Given the description of an element on the screen output the (x, y) to click on. 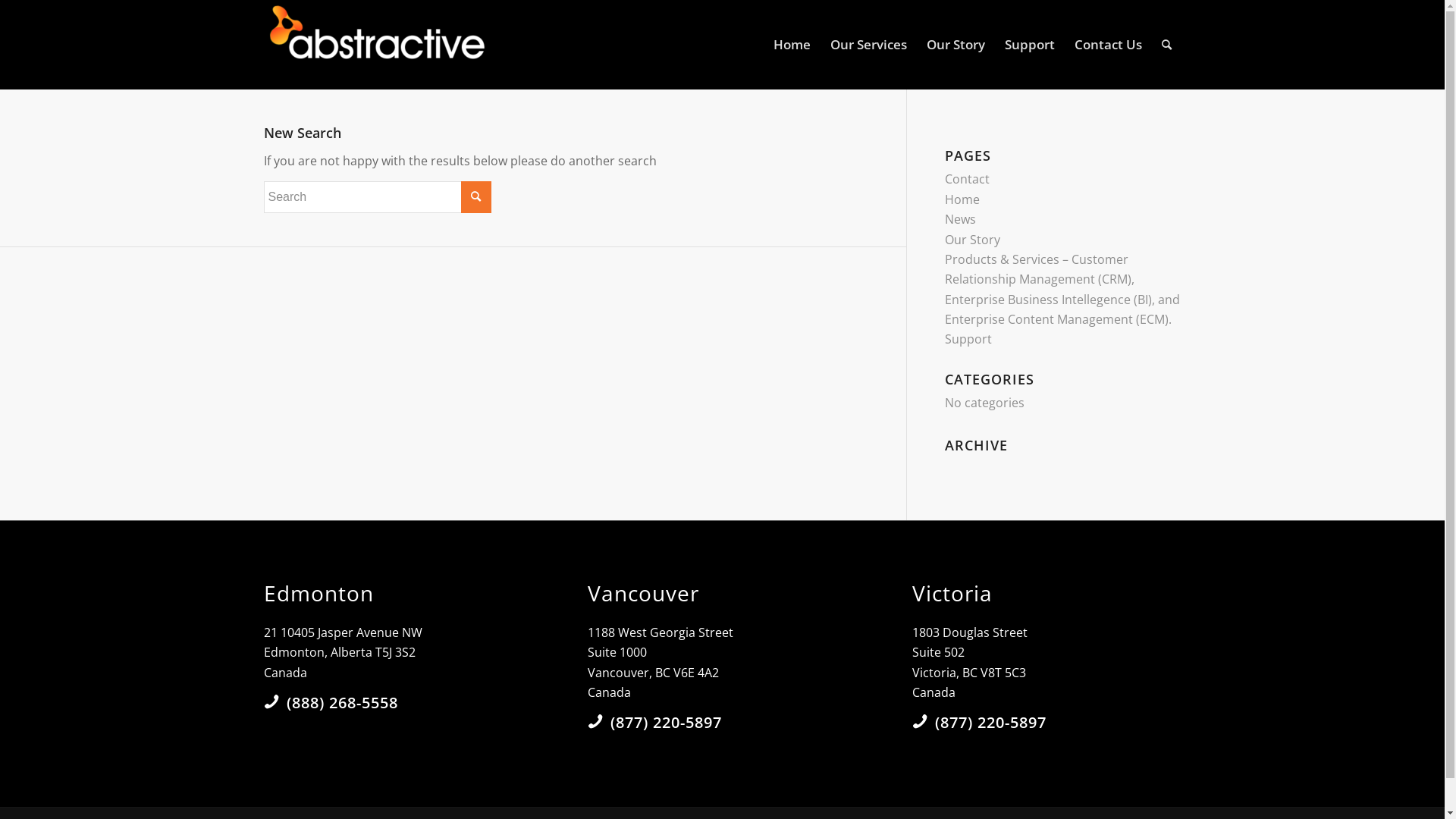
Our Story Element type: text (972, 239)
(888) 268-5558 Element type: text (342, 702)
Support Element type: text (967, 338)
Our Story Element type: text (955, 44)
Our Services Element type: text (868, 44)
Contact Us Element type: text (1107, 44)
(877) 220-5897 Element type: text (990, 722)
(877) 220-5897 Element type: text (665, 722)
Home Element type: text (790, 44)
Home Element type: text (961, 199)
Support Element type: text (1029, 44)
News Element type: text (959, 218)
Contact Element type: text (966, 178)
